Given the description of an element on the screen output the (x, y) to click on. 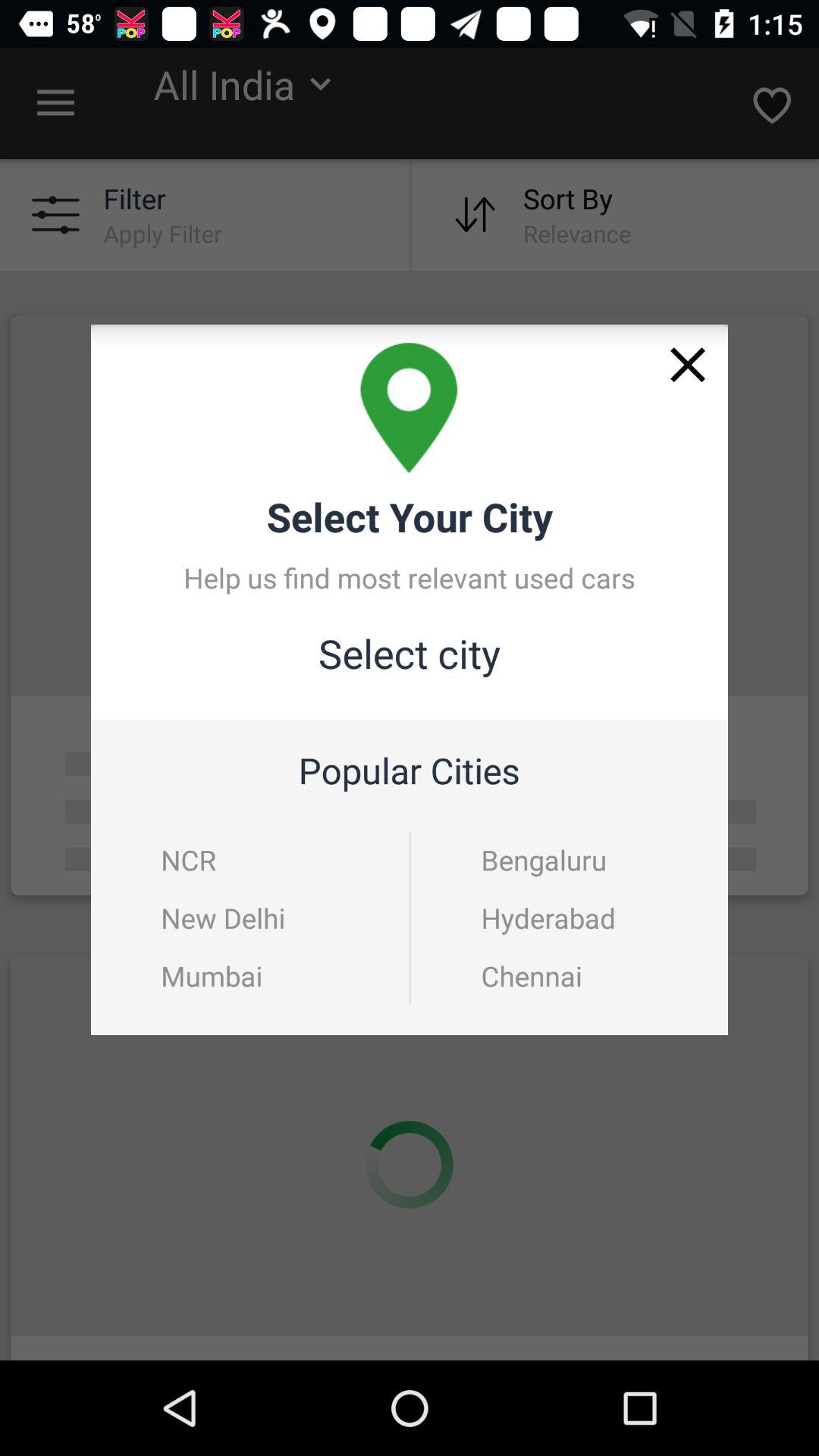
select the item above the help us find icon (687, 364)
